Given the description of an element on the screen output the (x, y) to click on. 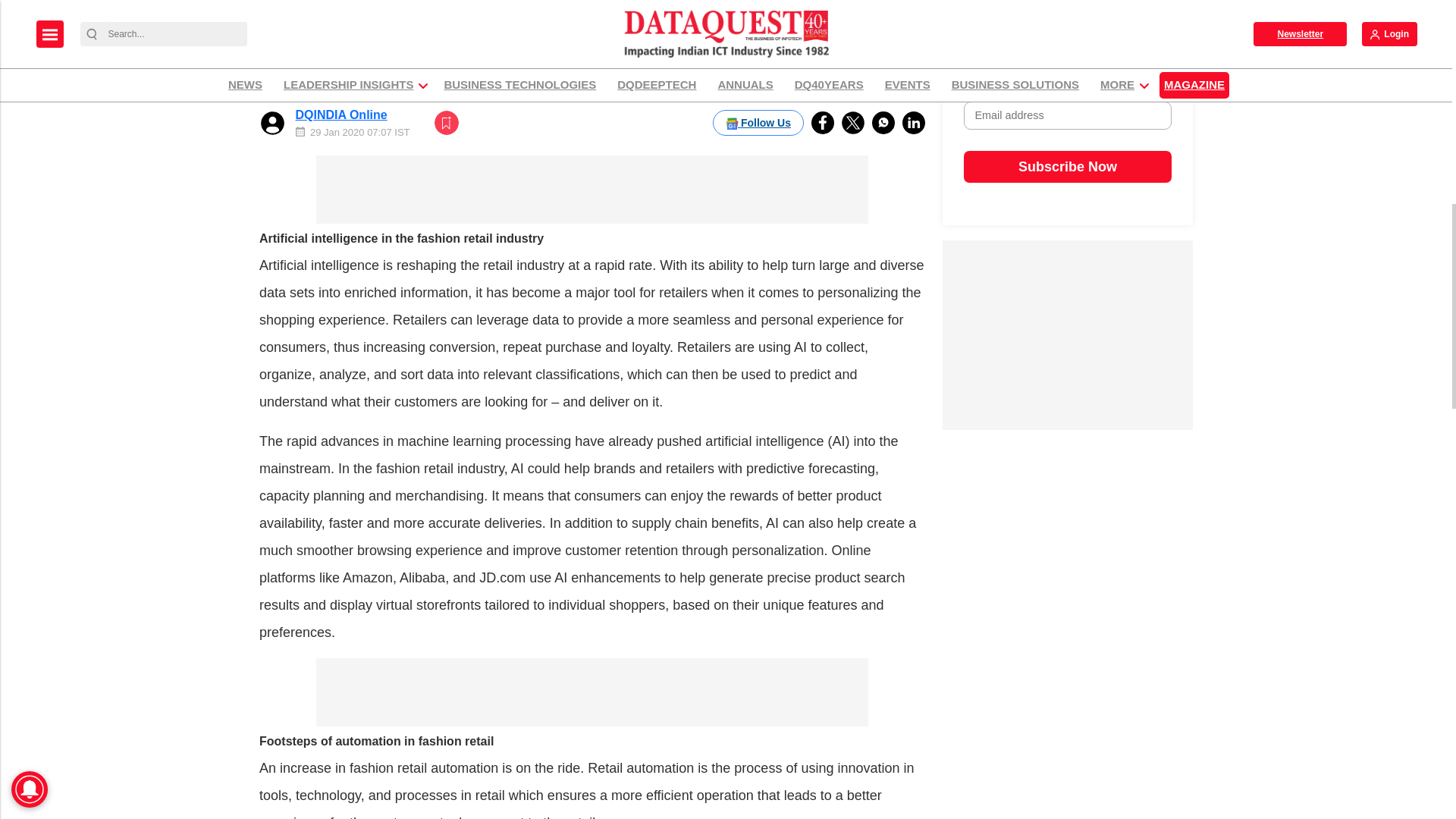
3rd party ad content (1066, 334)
3rd party ad content (591, 189)
